Given the description of an element on the screen output the (x, y) to click on. 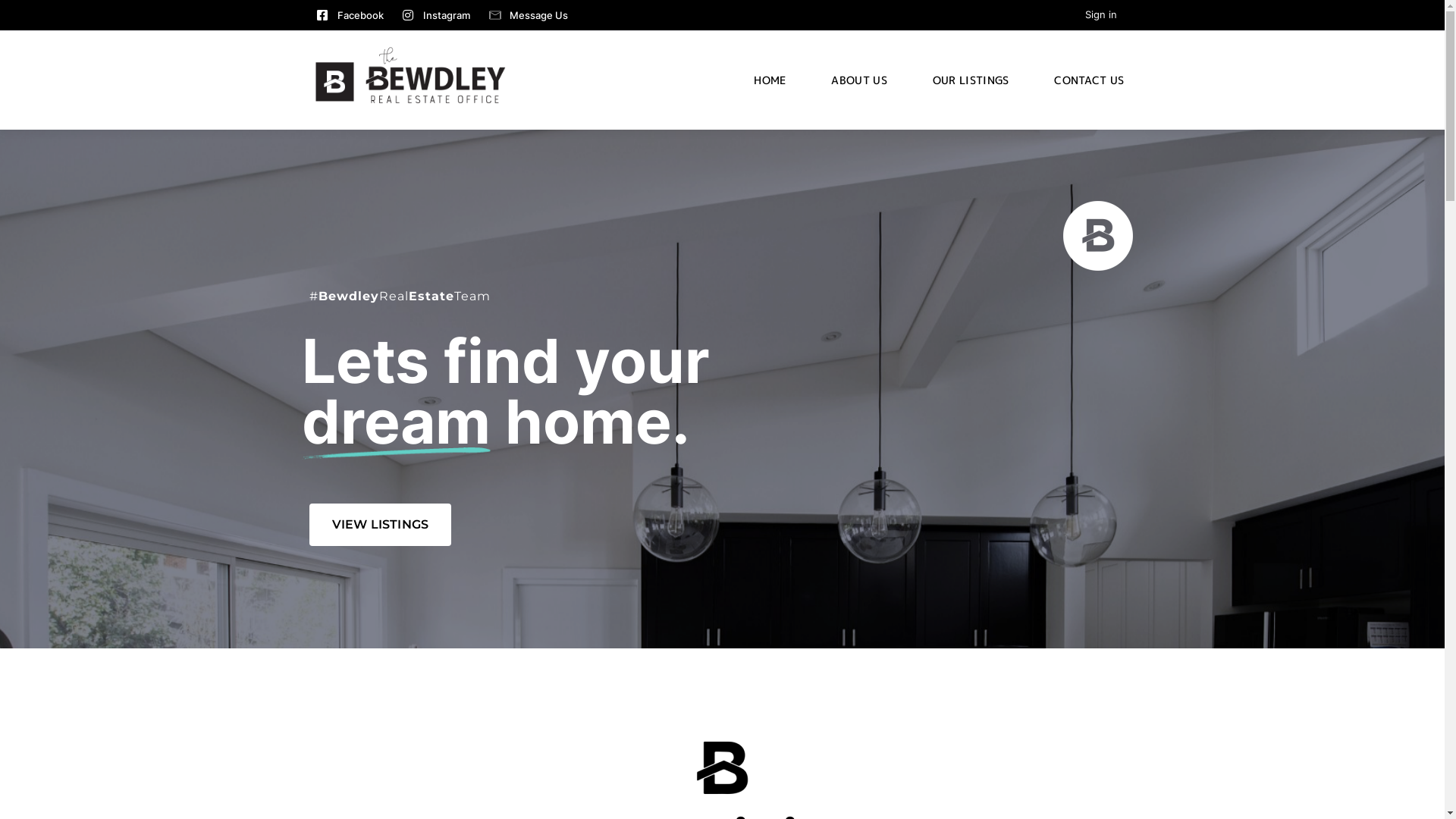
B Logo-circle-white Element type: hover (1097, 235)
Facebook Element type: text (349, 15)
Message Us Element type: text (527, 15)
VIEW LISTINGS Element type: text (380, 524)
CONTACT US Element type: text (1088, 72)
Home Element type: hover (407, 75)
HOME Element type: text (769, 72)
ABOUT US Element type: text (858, 72)
Instagram Element type: text (435, 15)
OUR LISTINGS Element type: text (971, 72)
Sign in Element type: text (1100, 14)
B Logo-black-125 Element type: hover (721, 767)
